Given the description of an element on the screen output the (x, y) to click on. 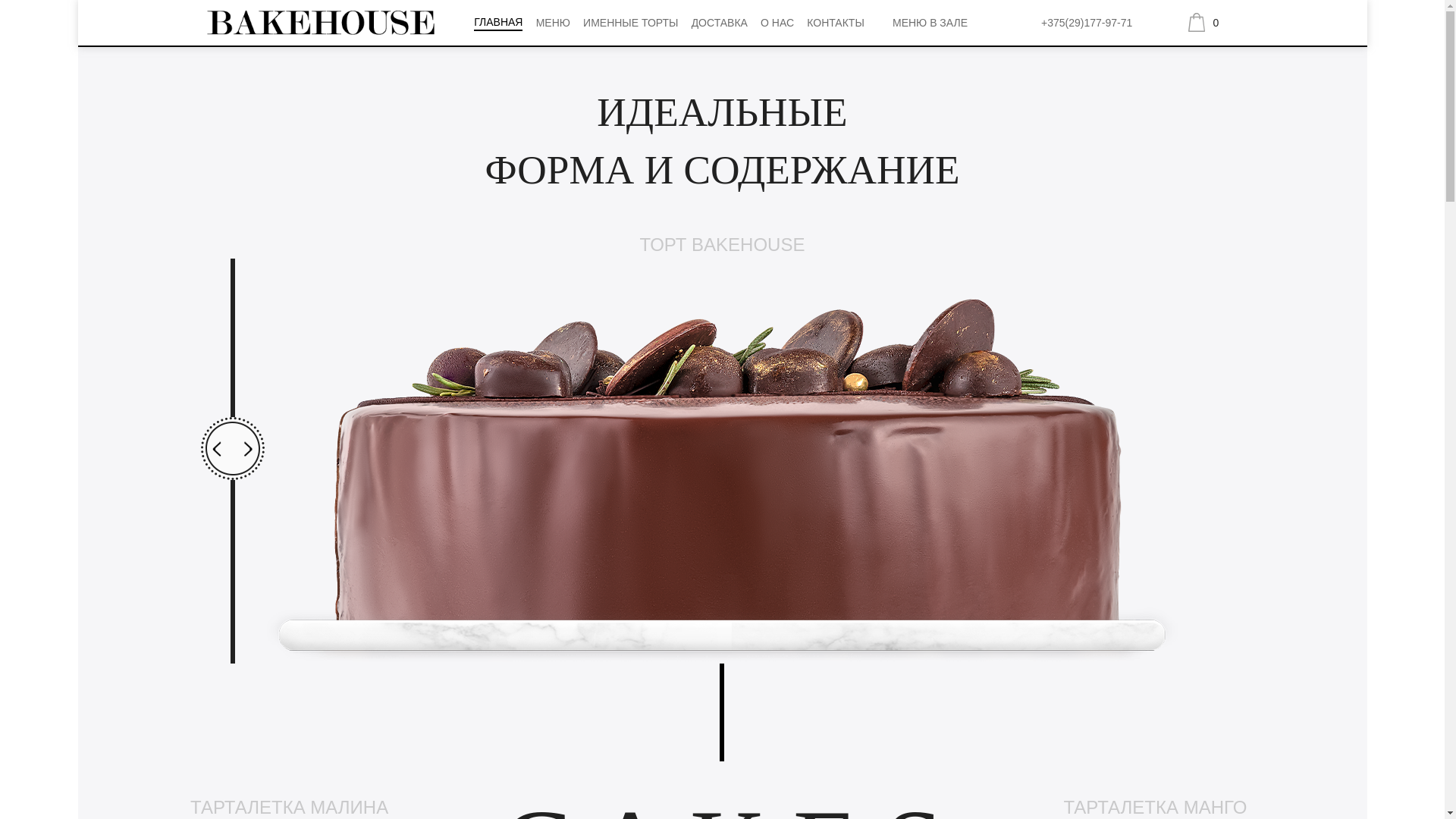
+375(29)177-97-71 Element type: text (1086, 22)
0 Element type: text (1208, 21)
